Given the description of an element on the screen output the (x, y) to click on. 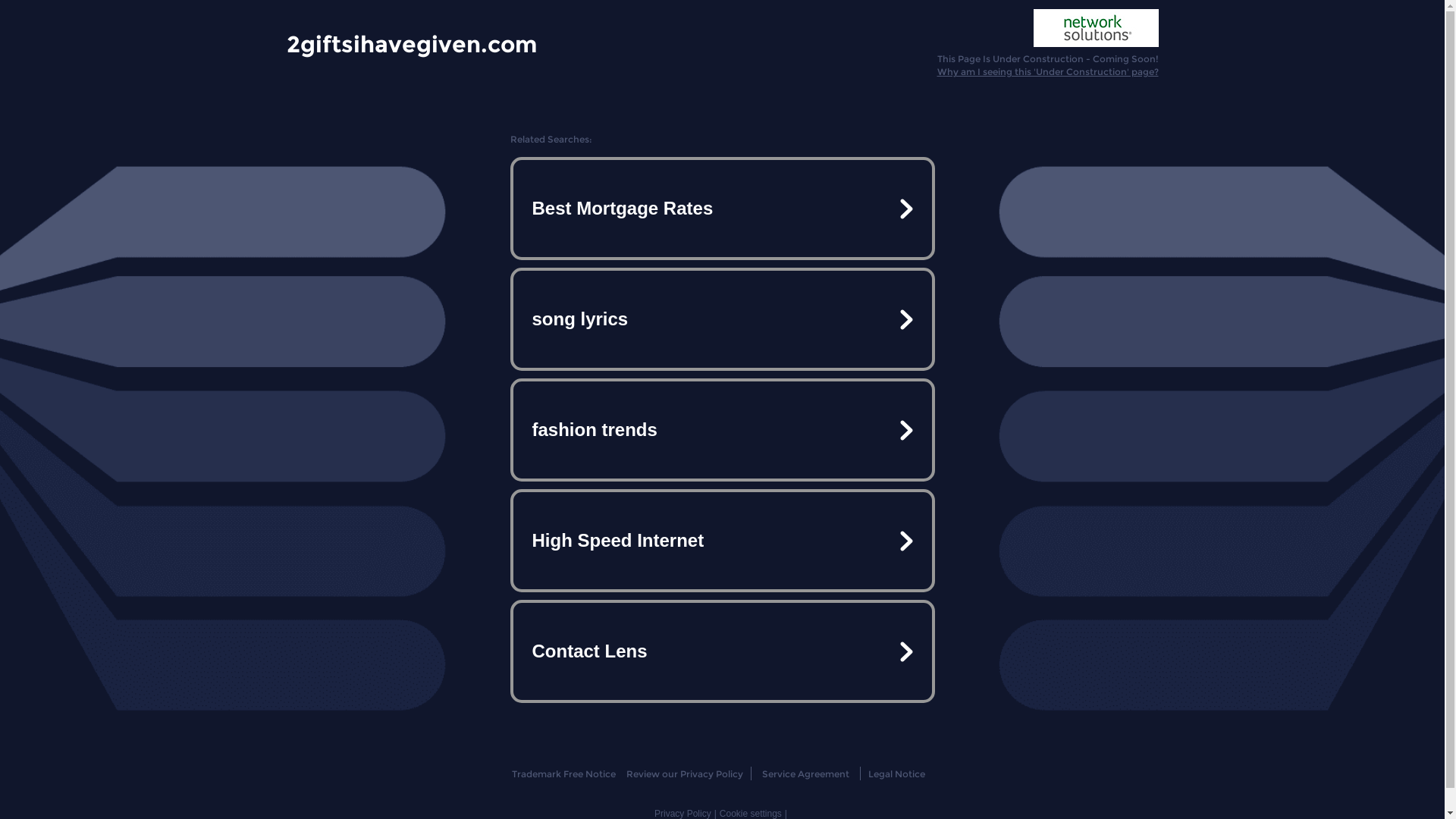
2giftsihavegiven.com Element type: text (411, 43)
fashion trends Element type: text (721, 429)
Why am I seeing this 'Under Construction' page? Element type: text (1047, 71)
High Speed Internet Element type: text (721, 540)
Best Mortgage Rates Element type: text (721, 208)
song lyrics Element type: text (721, 318)
Review our Privacy Policy Element type: text (684, 773)
Trademark Free Notice Element type: text (563, 773)
Service Agreement Element type: text (805, 773)
Contact Lens Element type: text (721, 650)
Legal Notice Element type: text (896, 773)
